Given the description of an element on the screen output the (x, y) to click on. 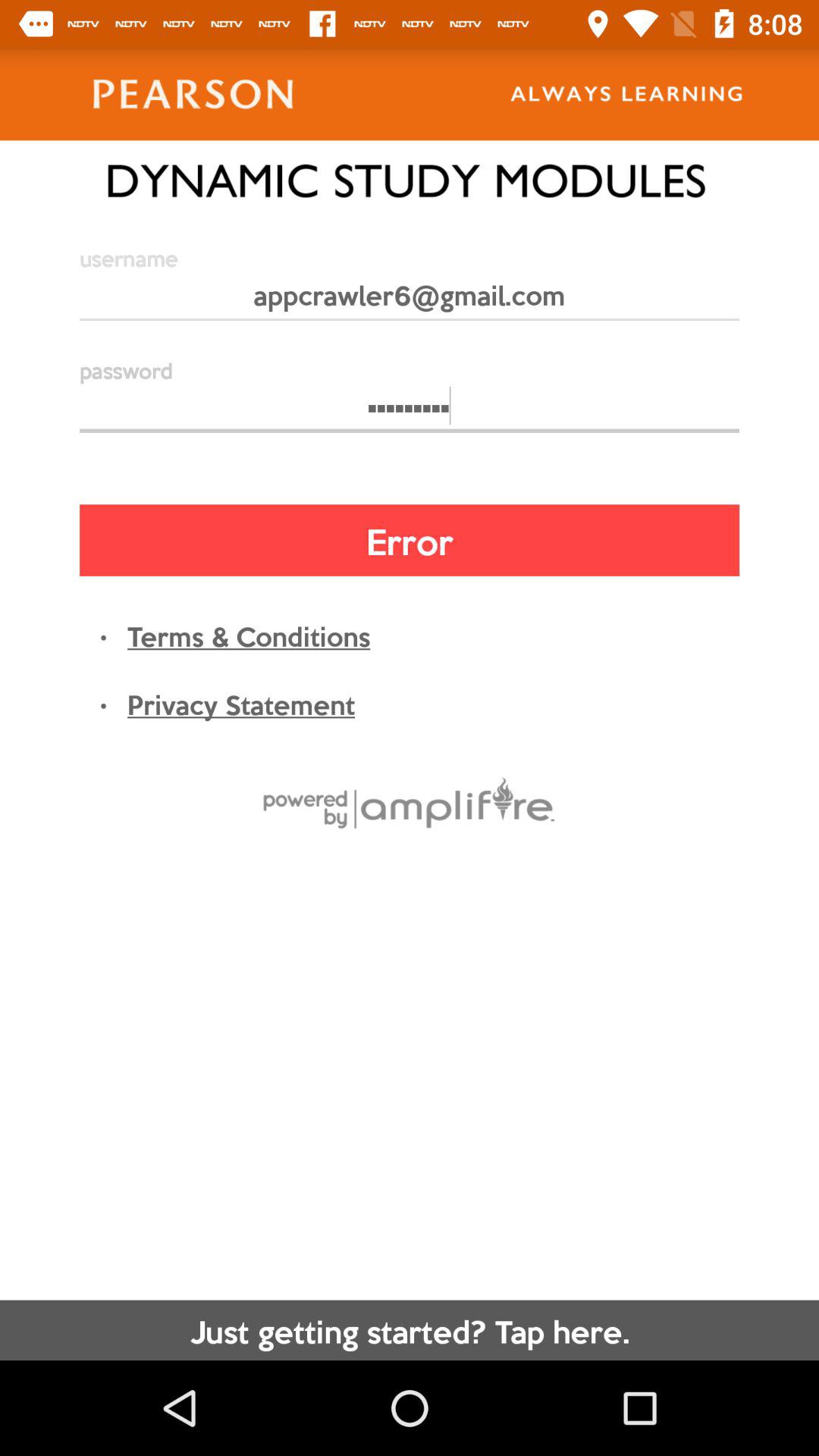
tap error item (409, 540)
